Given the description of an element on the screen output the (x, y) to click on. 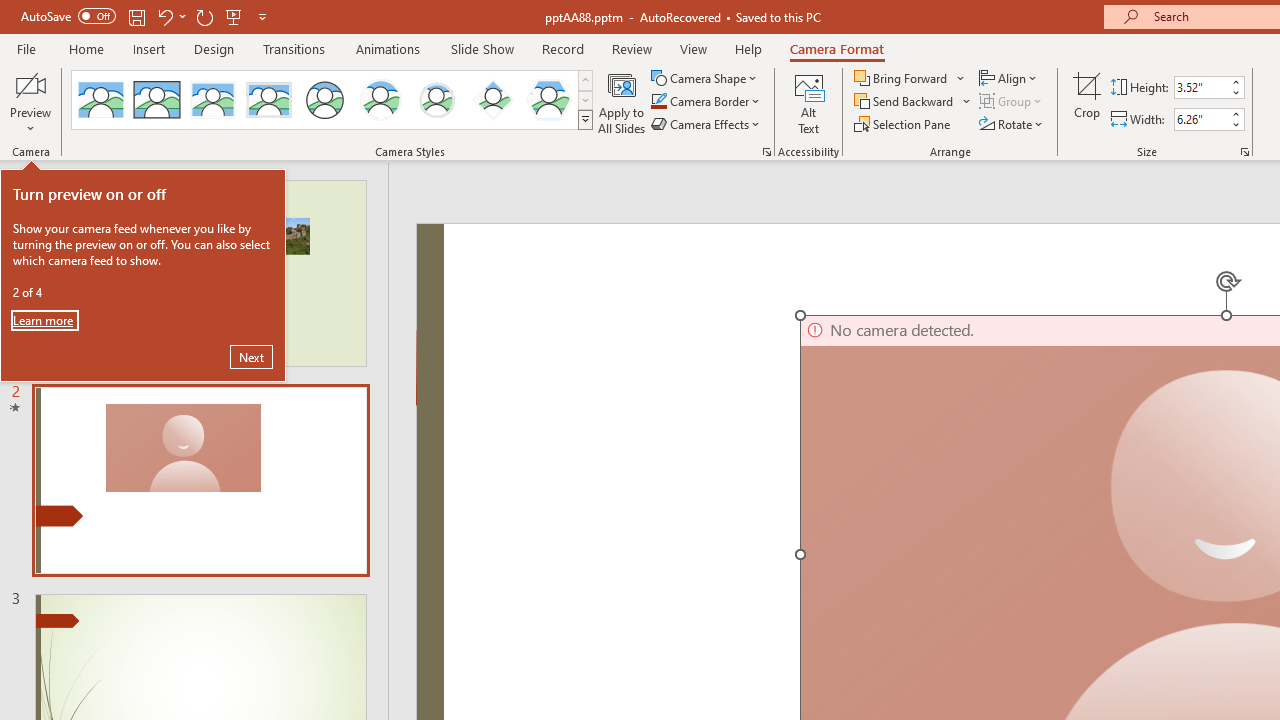
Selection Pane... (904, 124)
Size and Position... (1244, 151)
